Given the description of an element on the screen output the (x, y) to click on. 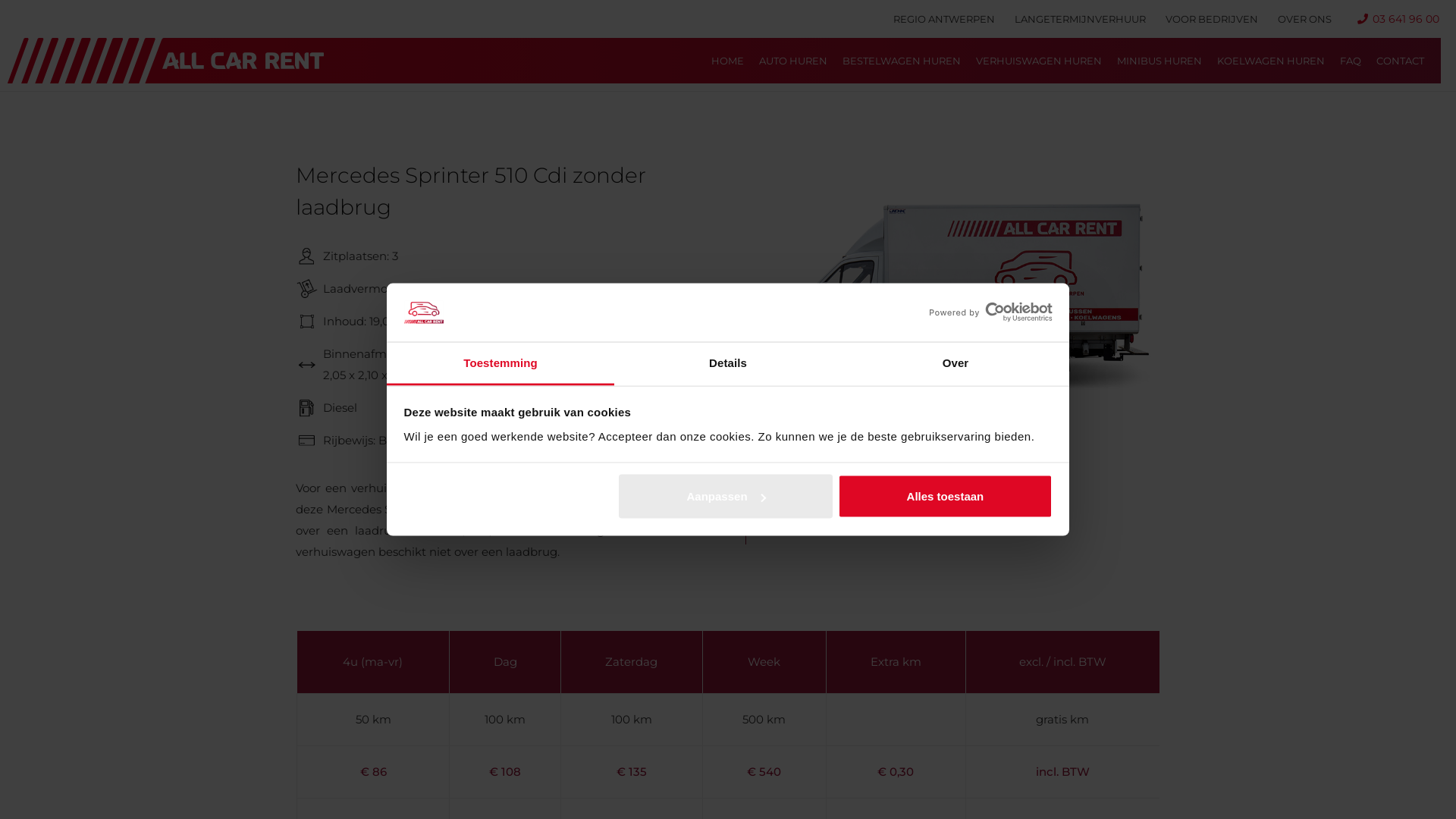
Over Element type: text (955, 363)
OVER ONS Element type: text (1304, 18)
FAQ Element type: text (1350, 60)
Aanpassen Element type: text (725, 496)
AUTO HUREN Element type: text (792, 60)
KOELWAGEN HUREN Element type: text (1270, 60)
Details Element type: text (727, 363)
LANGETERMIJNVERHUUR Element type: text (1079, 18)
MINIBUS HUREN Element type: text (1159, 60)
VOOR BEDRIJVEN Element type: text (1211, 18)
Alles toestaan Element type: text (944, 496)
CONTACT Element type: text (1399, 60)
HOME Element type: text (727, 60)
REGIO ANTWERPEN Element type: text (943, 18)
VERHUISWAGEN HUREN Element type: text (1038, 60)
03 641 96 00 Element type: text (1398, 18)
BESTELWAGEN HUREN Element type: text (901, 60)
Toestemming Element type: text (500, 363)
